Given the description of an element on the screen output the (x, y) to click on. 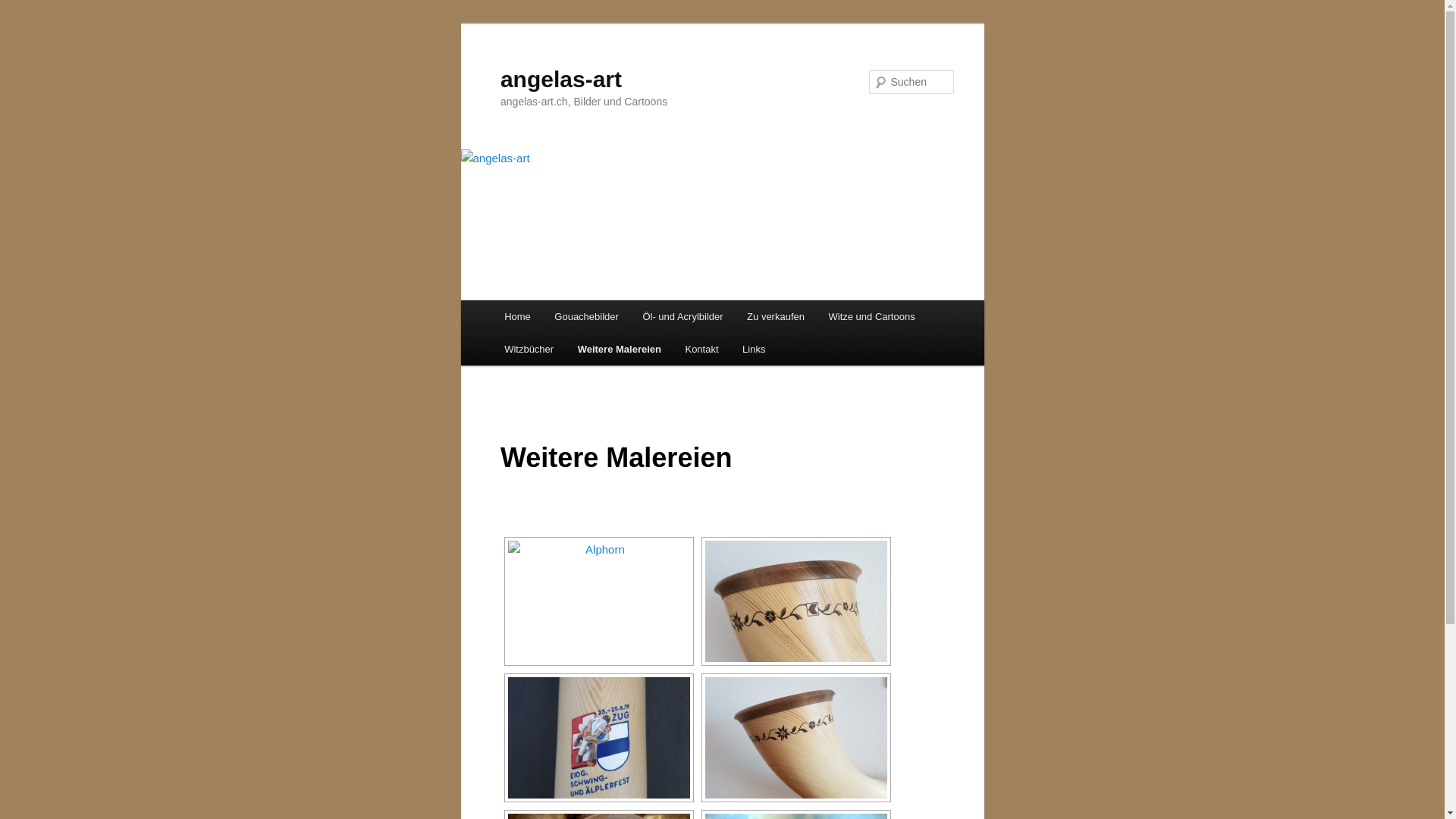
Suchen Element type: text (25, 8)
Kontakt Element type: text (702, 348)
Alphorn Element type: hover (599, 601)
Alphorn_2 Element type: hover (599, 737)
Witze und Cartoons Element type: text (871, 316)
Alphorn_3 Element type: hover (796, 737)
Home Element type: text (517, 316)
Zu verkaufen Element type: text (774, 316)
Gouachebilder Element type: text (586, 316)
Zum Inhalt wechseln Element type: text (514, 300)
Weitere Malereien Element type: text (619, 348)
Alphorn_1 Element type: hover (796, 601)
Links Element type: text (753, 348)
angelas-art Element type: text (560, 78)
